Given the description of an element on the screen output the (x, y) to click on. 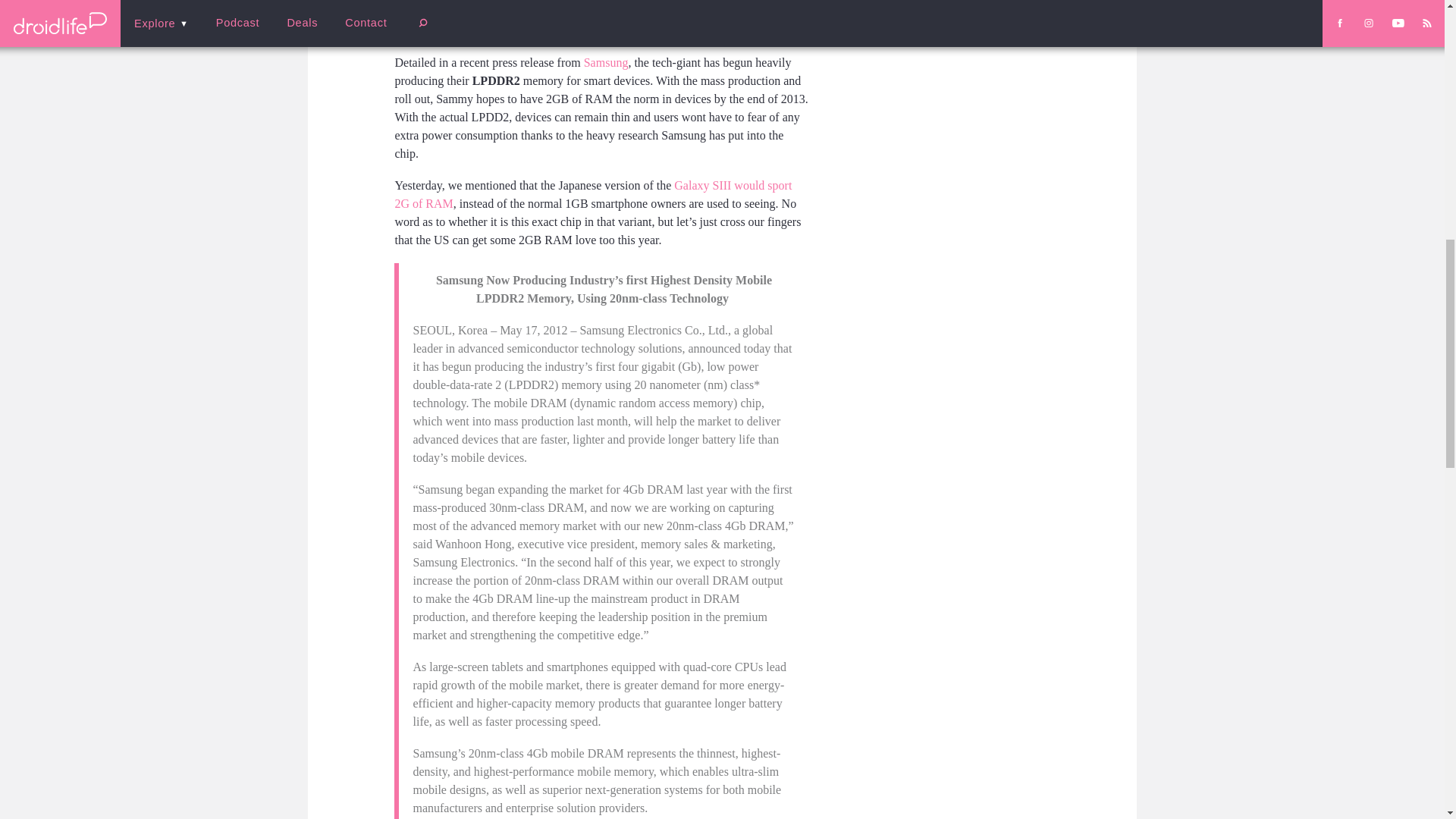
LPDDR2 memory (601, 17)
